Given the description of an element on the screen output the (x, y) to click on. 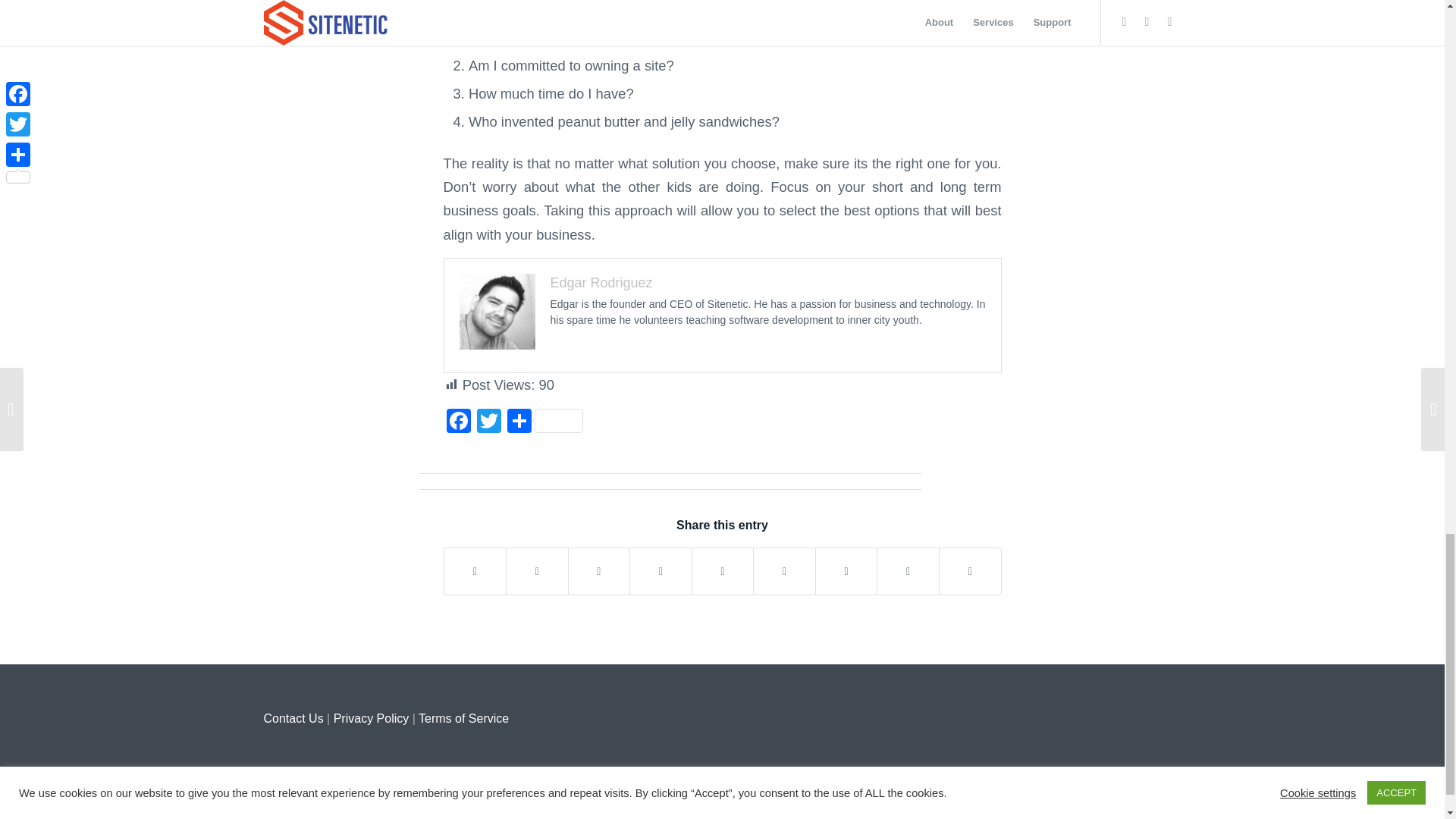
Twitter (488, 422)
Contact Us (293, 717)
Facebook (457, 422)
Privacy Policy (371, 717)
Edgar Rodriguez (601, 282)
Terms of Service (463, 717)
Twitter (488, 422)
Facebook (457, 422)
